Given the description of an element on the screen output the (x, y) to click on. 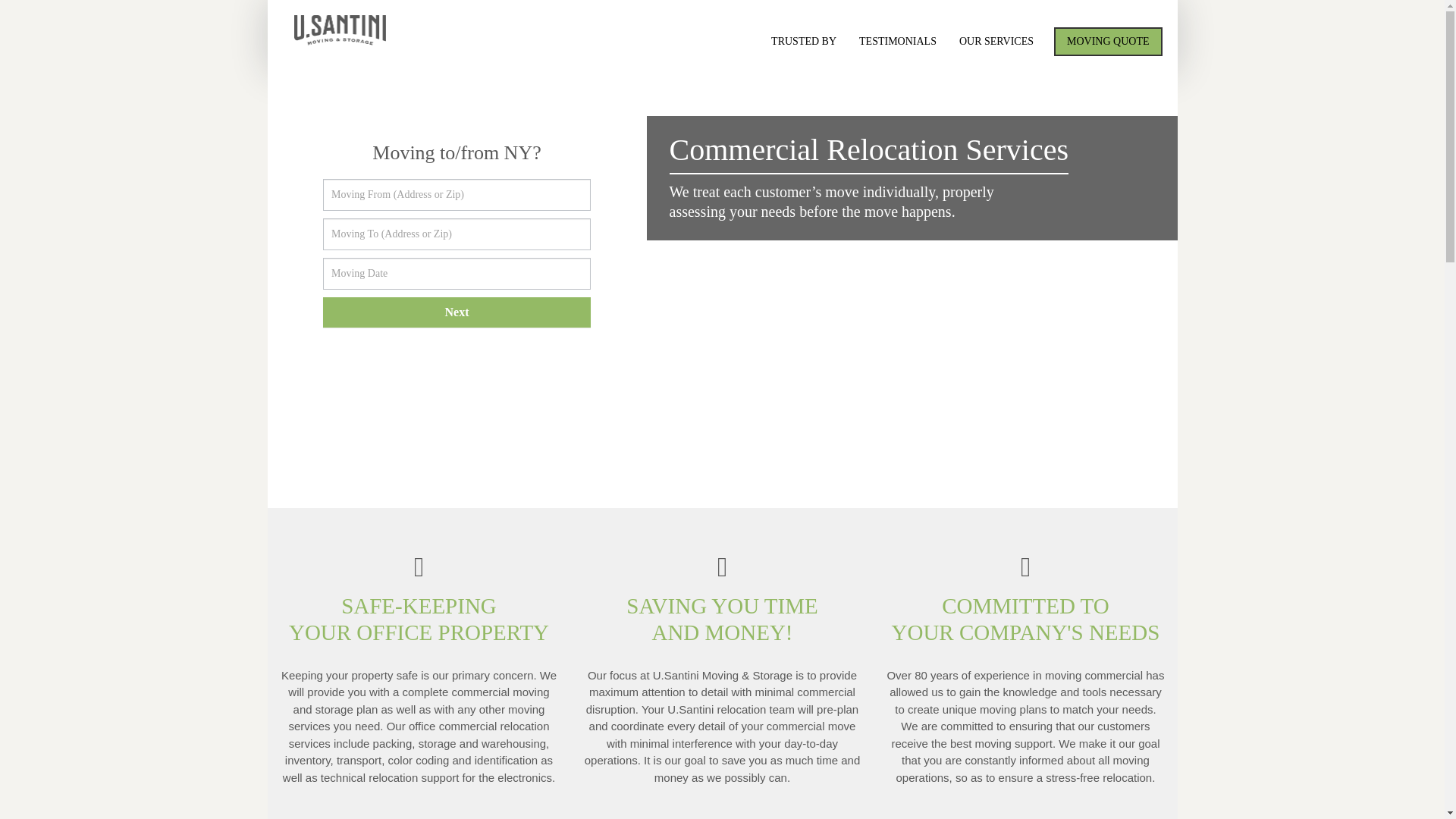
Next (457, 312)
Next (457, 312)
TESTIMONIALS (897, 41)
OUR SERVICES (996, 41)
TRUSTED BY (803, 41)
MOVING QUOTE (1107, 41)
